Given the description of an element on the screen output the (x, y) to click on. 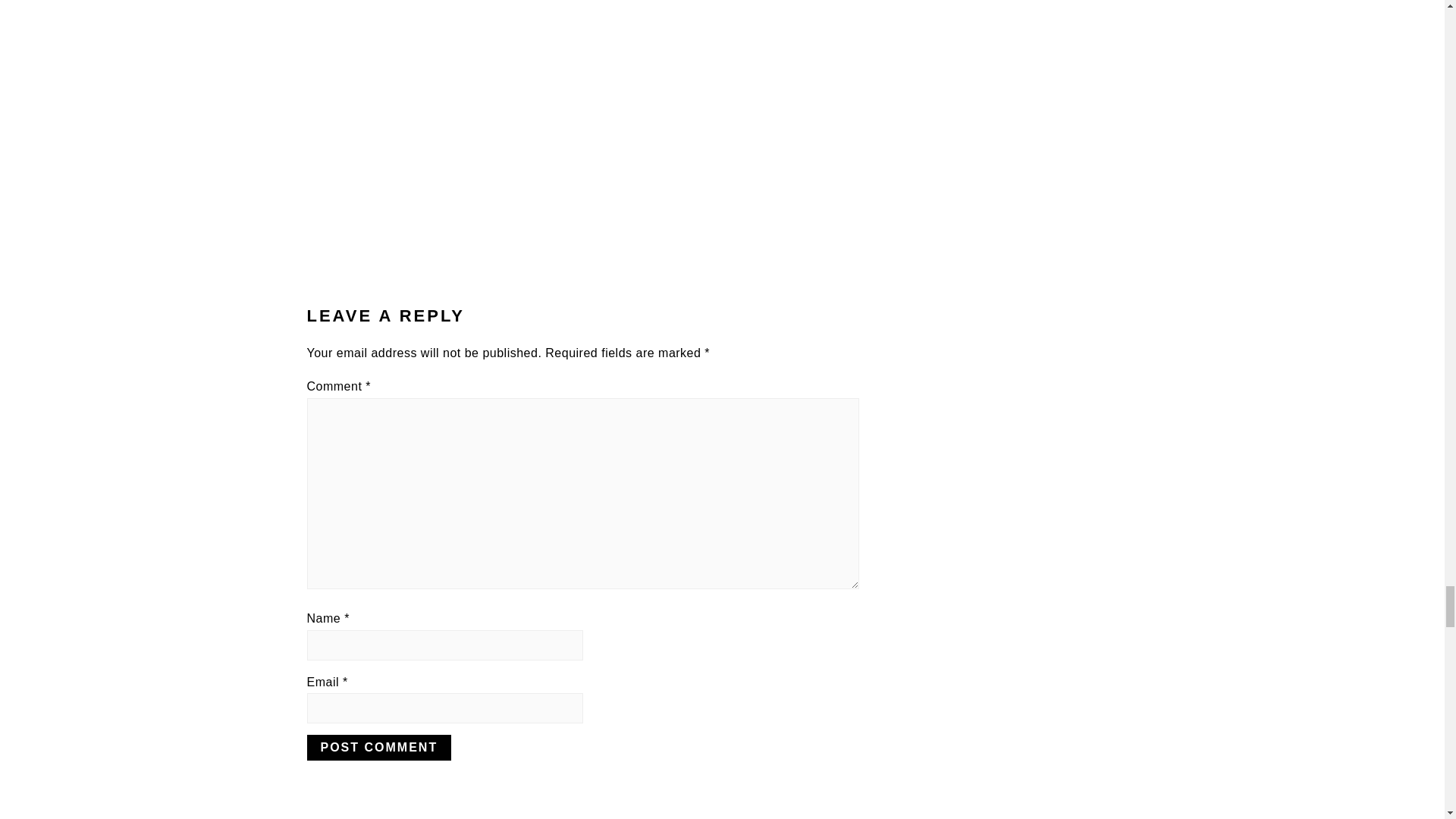
Post Comment (378, 747)
